Given the description of an element on the screen output the (x, y) to click on. 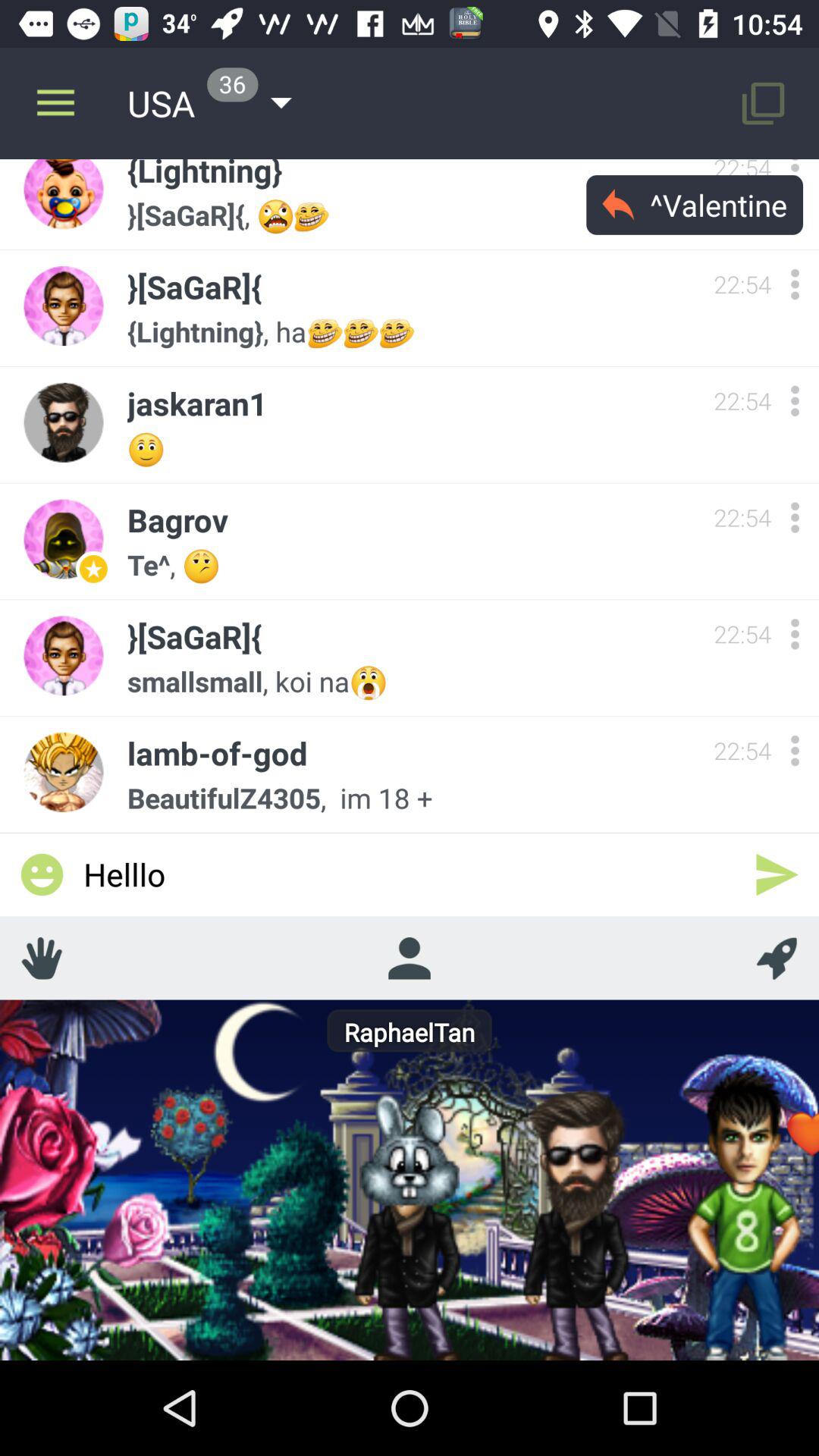
toggle drop down menu (795, 517)
